Given the description of an element on the screen output the (x, y) to click on. 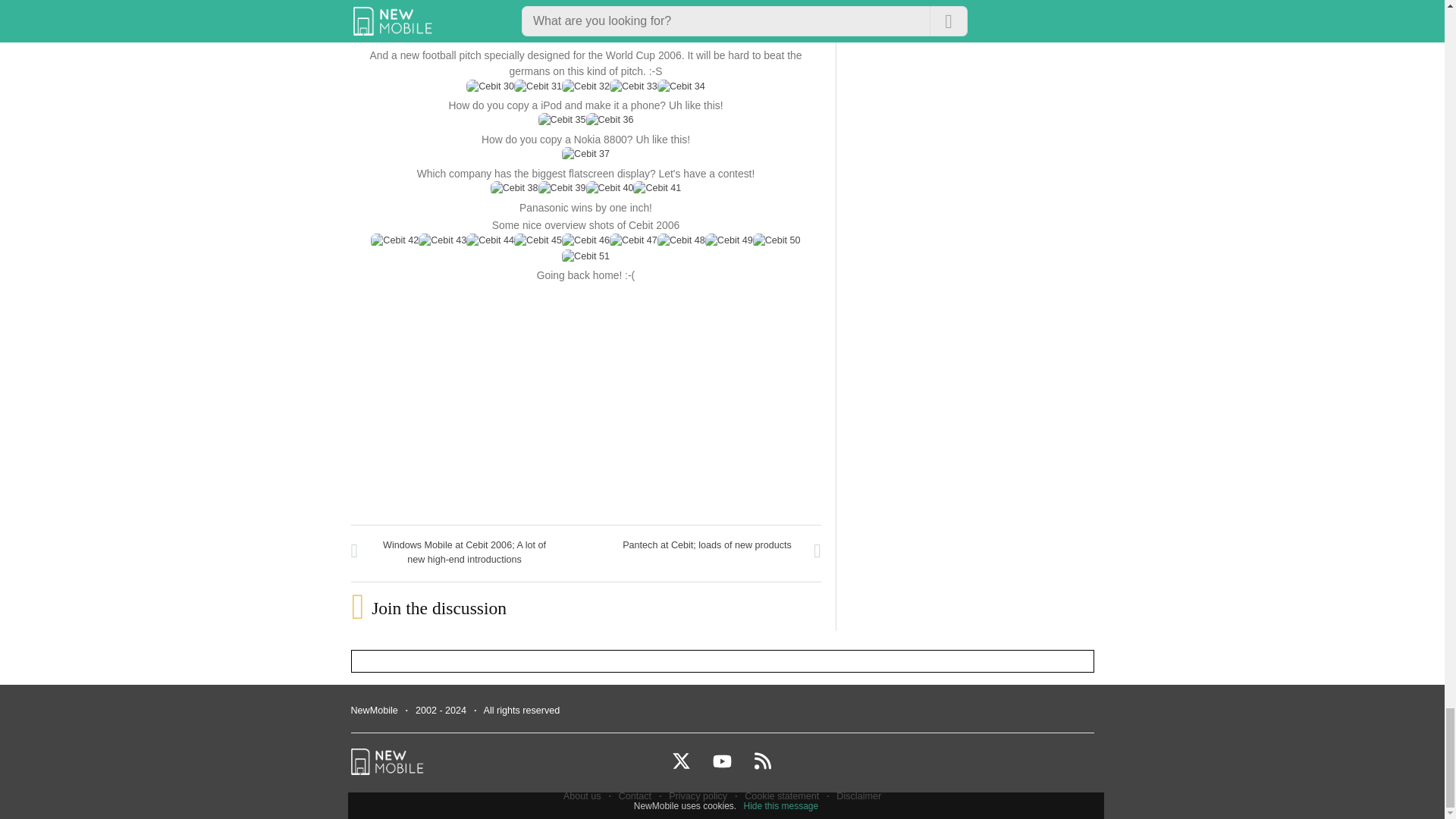
Disclaimer (857, 796)
Privacy policy (697, 796)
Pantech at Cebit; loads of new products (706, 545)
Follow us on Twitter (690, 767)
Follow our RSS feed (763, 767)
Cookie statement (781, 796)
Contact (634, 796)
About us (582, 796)
Subscribe to our YouTube channel (732, 767)
